Given the description of an element on the screen output the (x, y) to click on. 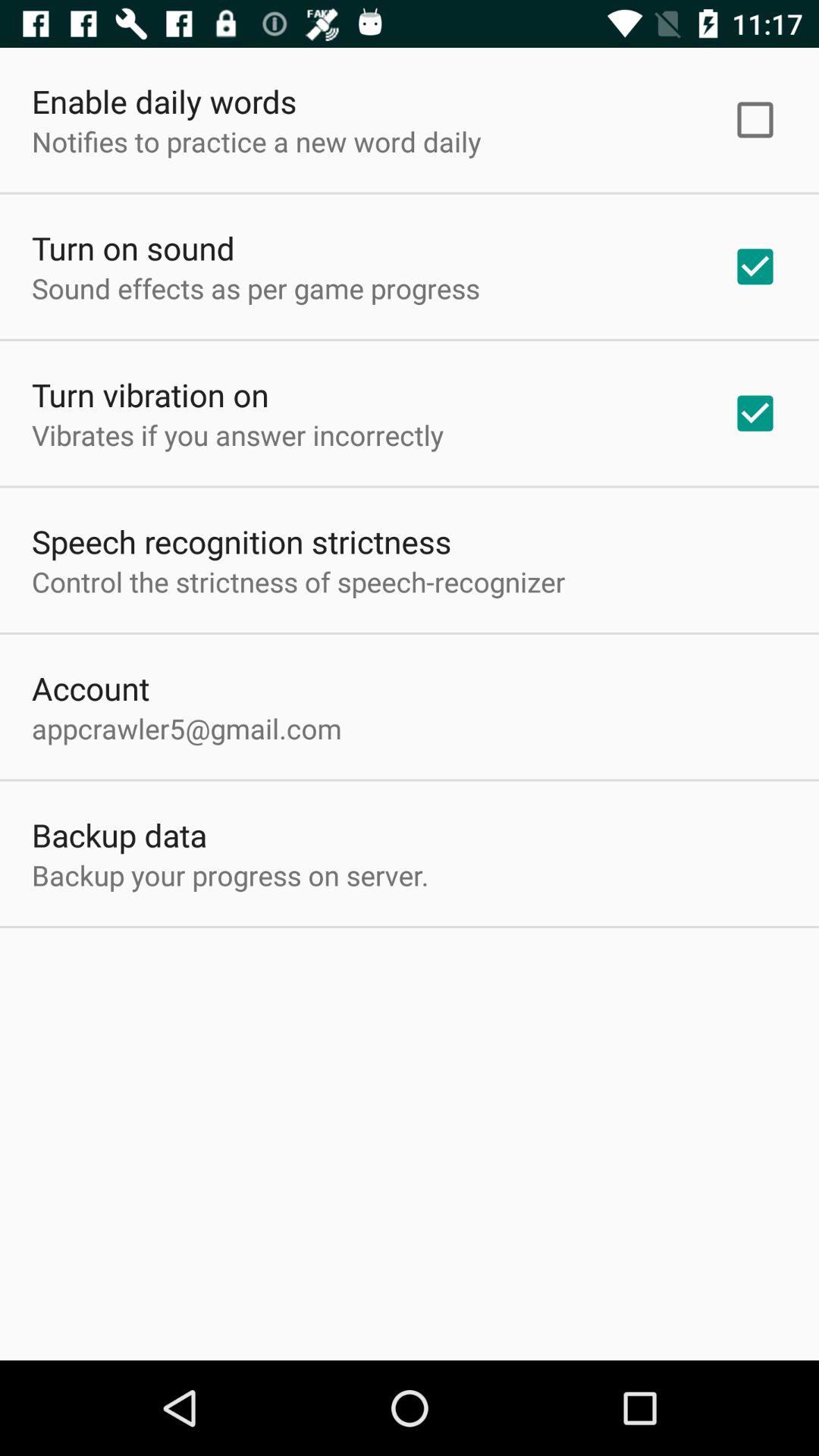
tap account (90, 687)
